Given the description of an element on the screen output the (x, y) to click on. 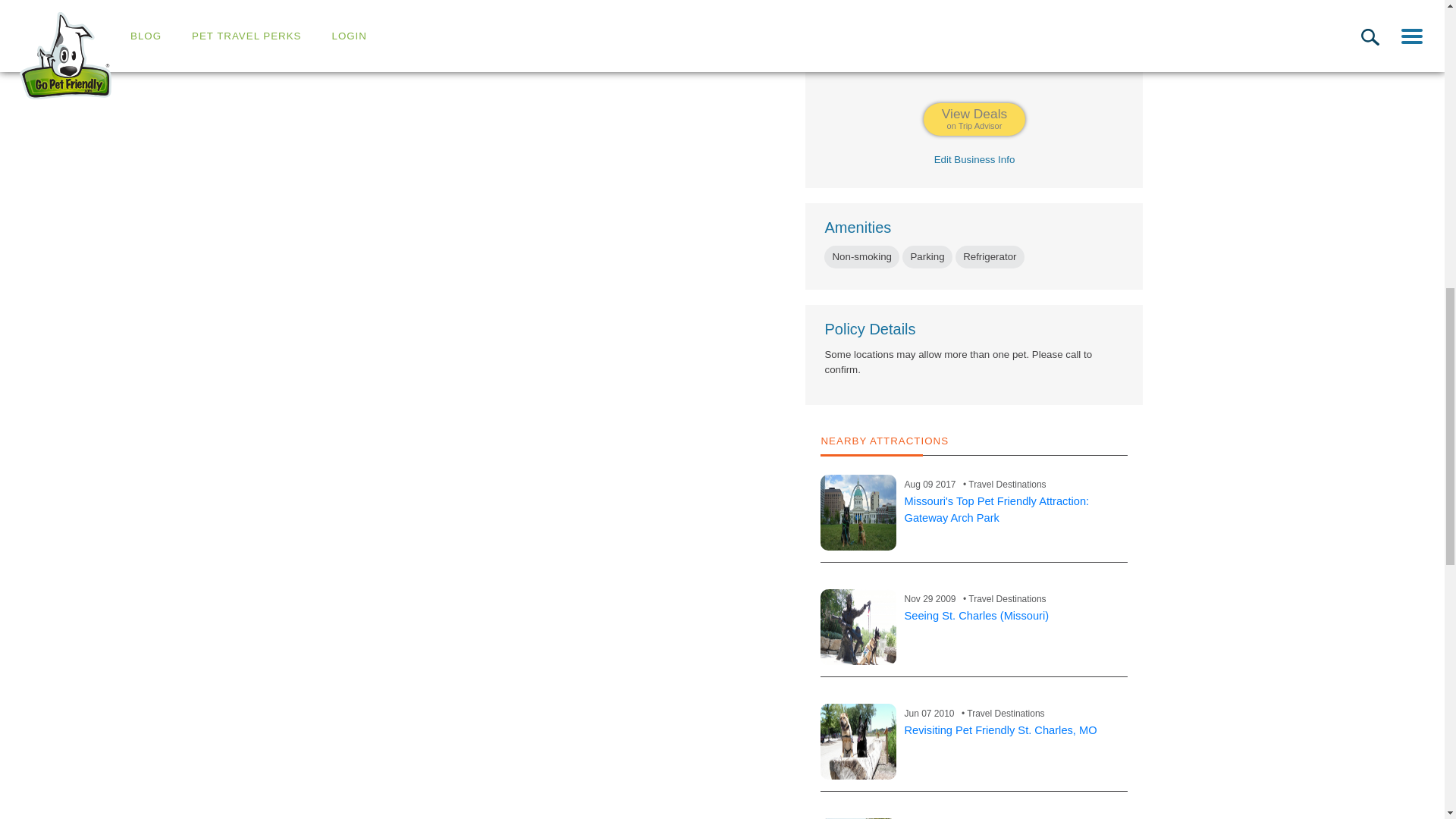
Revisiting Pet Friendly St. Charles, MO (858, 741)
EMAIL (1003, 64)
Missouri's Top Pet Friendly Attraction: Gateway Arch Park (996, 509)
Missouri's Top Pet Friendly Attraction: Gateway Arch Park (974, 119)
Edit Business Info (858, 512)
WEBSITE (974, 159)
